Given the description of an element on the screen output the (x, y) to click on. 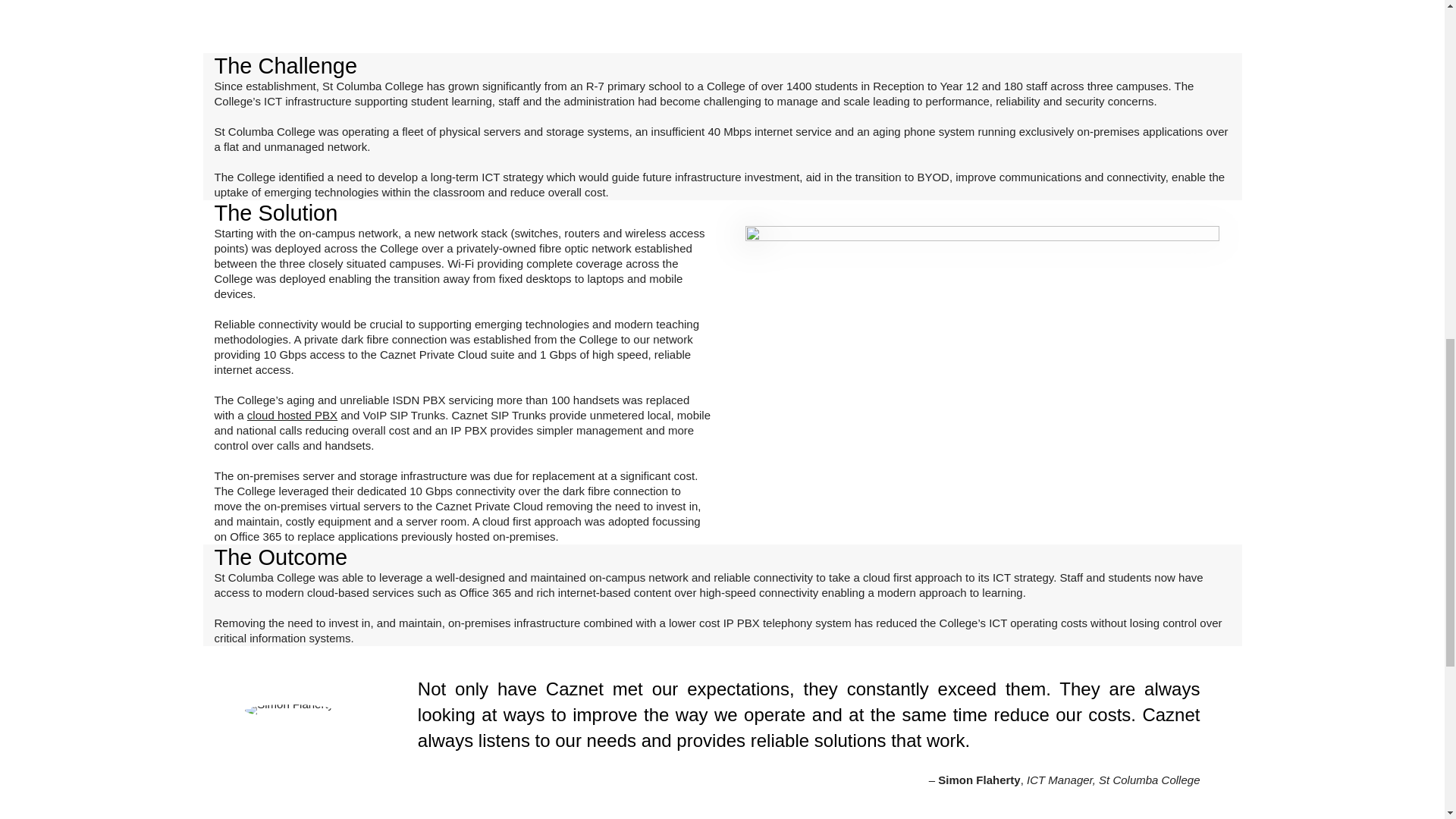
simon-flaherty (288, 710)
caznet-cs-columba (981, 339)
cloud hosted PBX (292, 414)
st-columba-college-case-study-ft (375, 26)
